Given the description of an element on the screen output the (x, y) to click on. 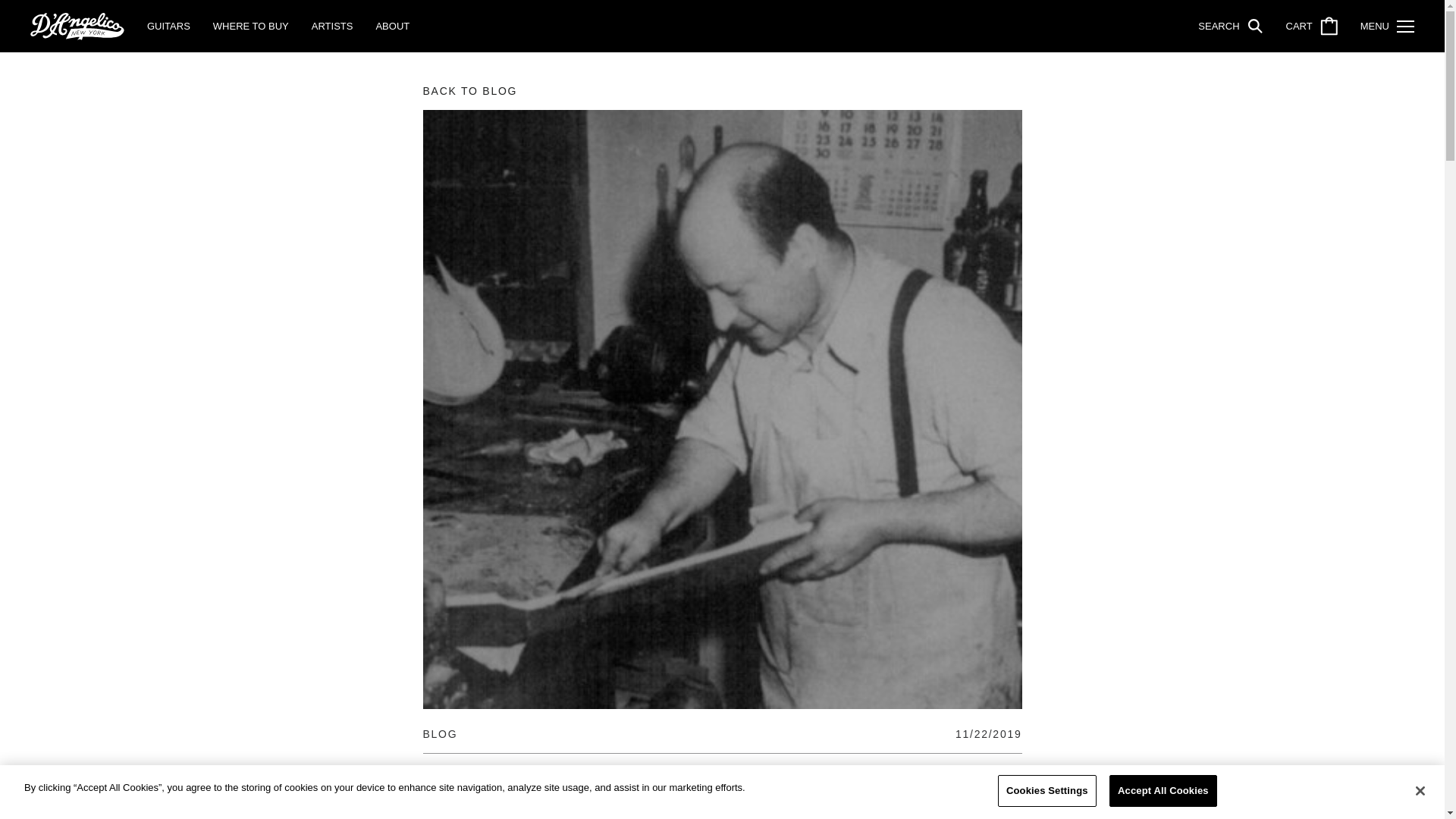
SEARCH (1230, 26)
WHERE TO BUY (250, 26)
MENU (1386, 26)
CART (1311, 26)
